Given the description of an element on the screen output the (x, y) to click on. 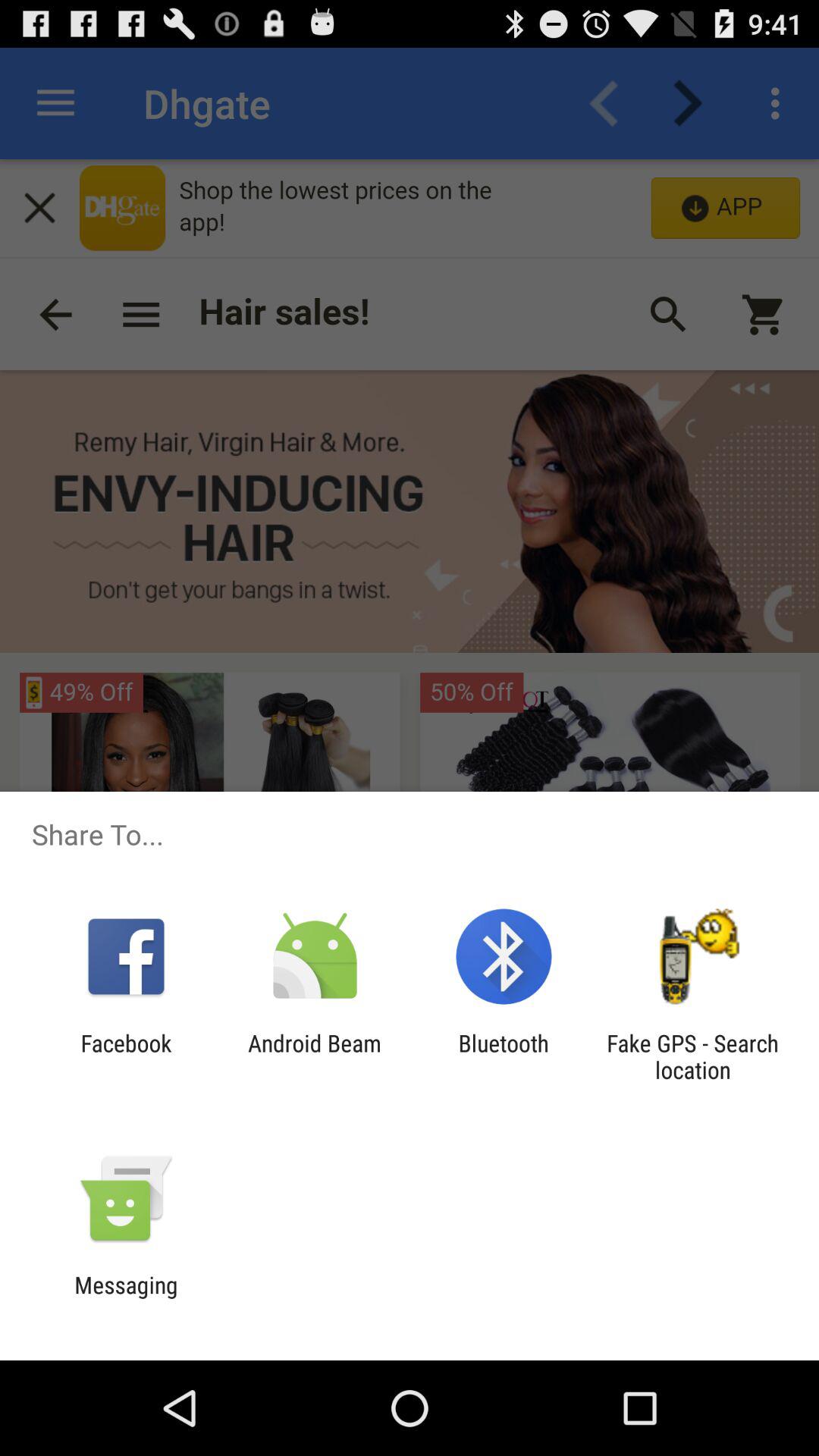
turn on the icon to the left of the bluetooth icon (314, 1056)
